Given the description of an element on the screen output the (x, y) to click on. 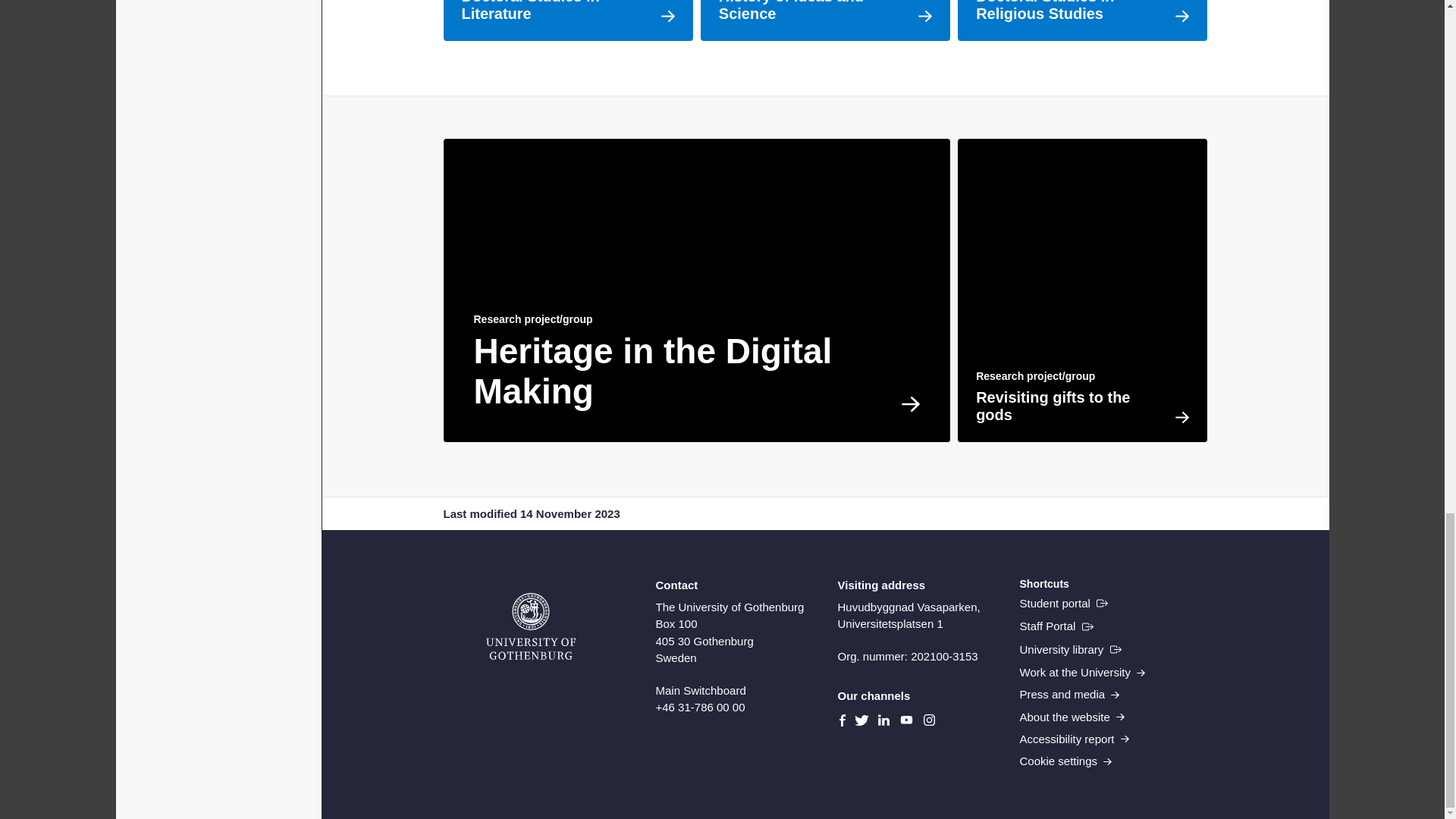
External link (1063, 603)
External link (1070, 649)
External link (1056, 626)
